Given the description of an element on the screen output the (x, y) to click on. 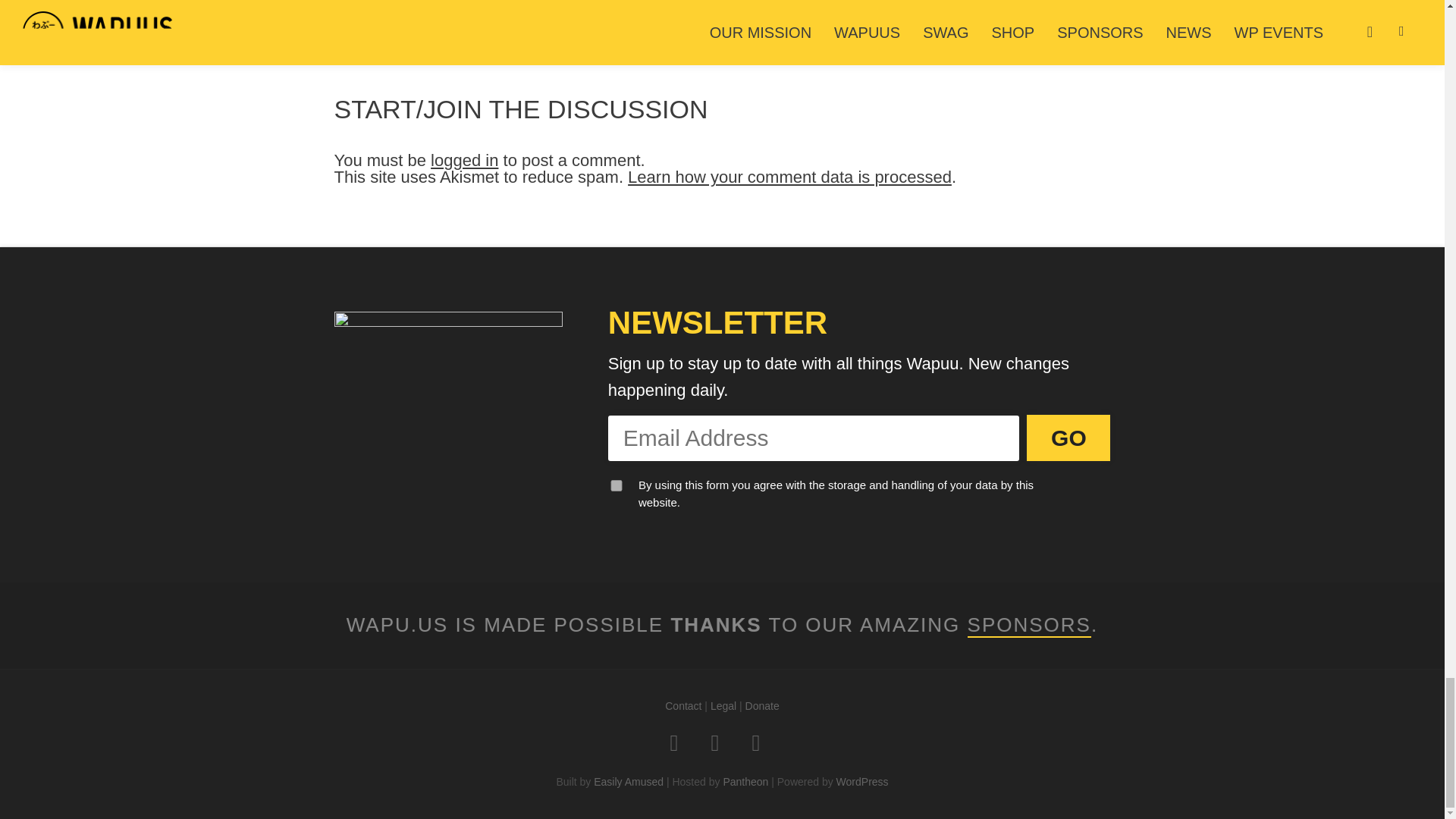
true (616, 485)
Twitter (681, 743)
Go (1067, 437)
Sponsors (1029, 625)
